Given the description of an element on the screen output the (x, y) to click on. 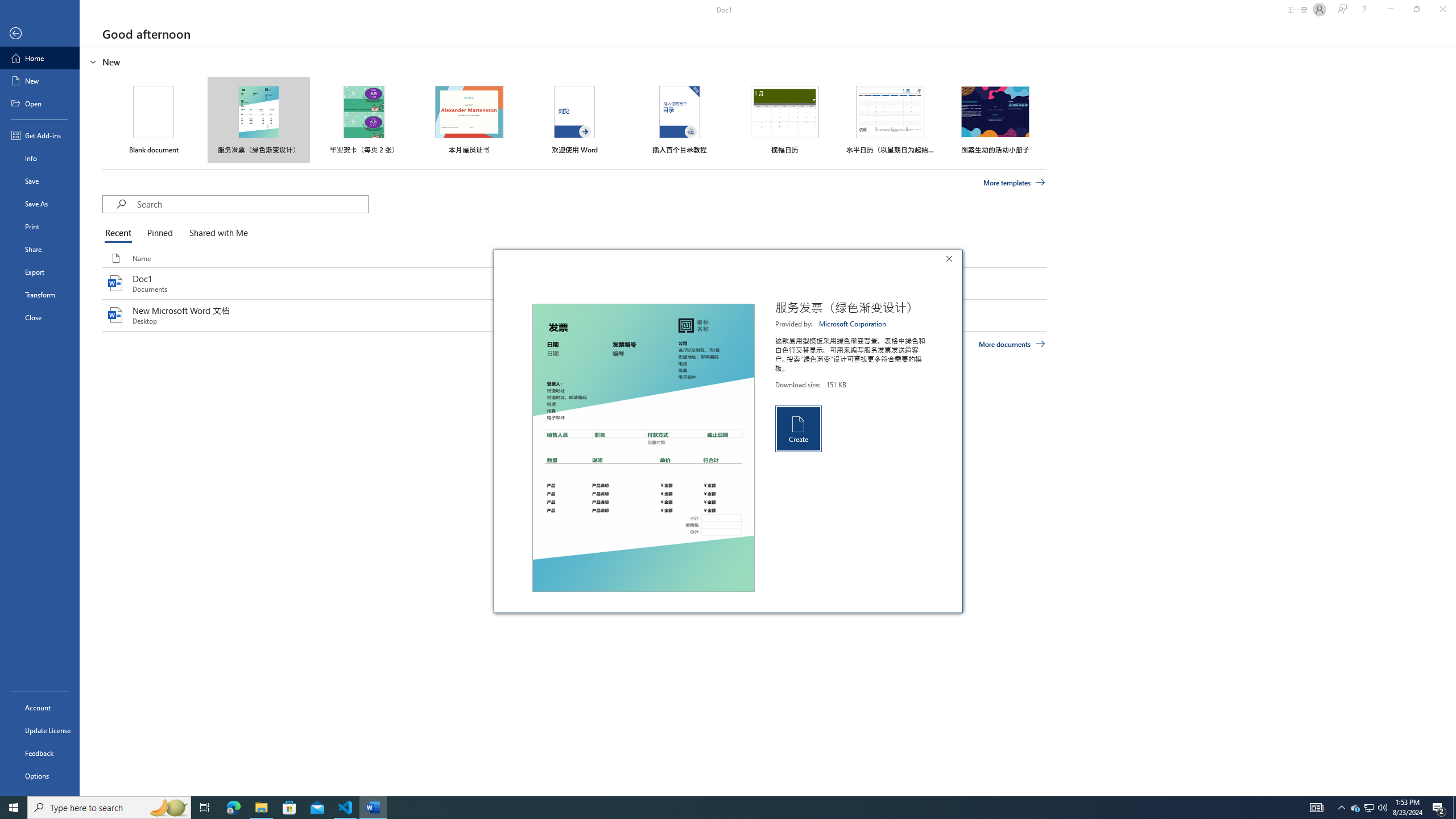
File Explorer - 1 running window (261, 807)
Update License (1368, 807)
Running applications (40, 730)
Help (717, 807)
Shared with Me (1364, 9)
Start (215, 233)
More templates (13, 807)
Restore Down (1014, 182)
Feedback (1416, 9)
Save As (40, 753)
